Given the description of an element on the screen output the (x, y) to click on. 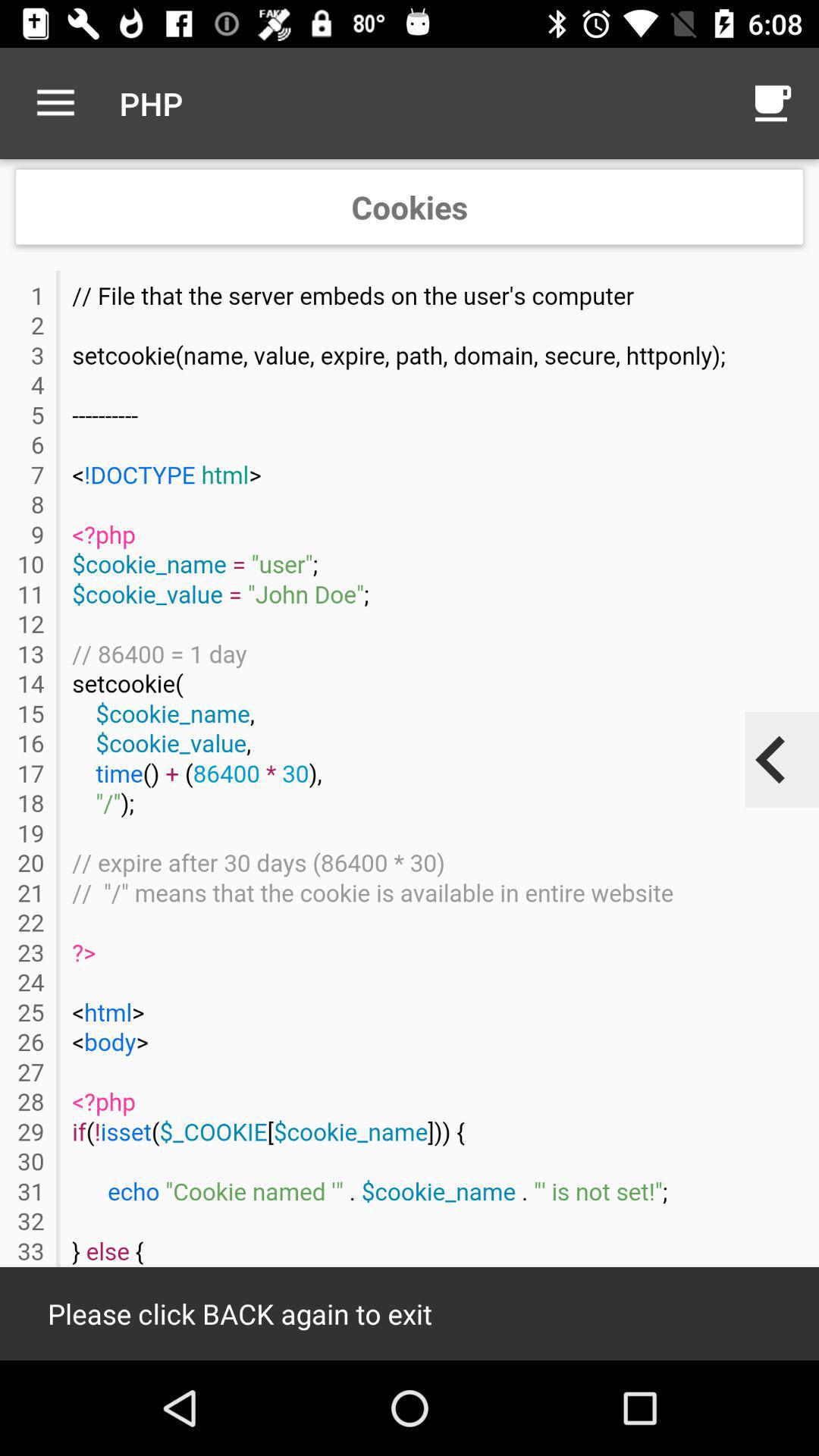
go back (771, 759)
